Given the description of an element on the screen output the (x, y) to click on. 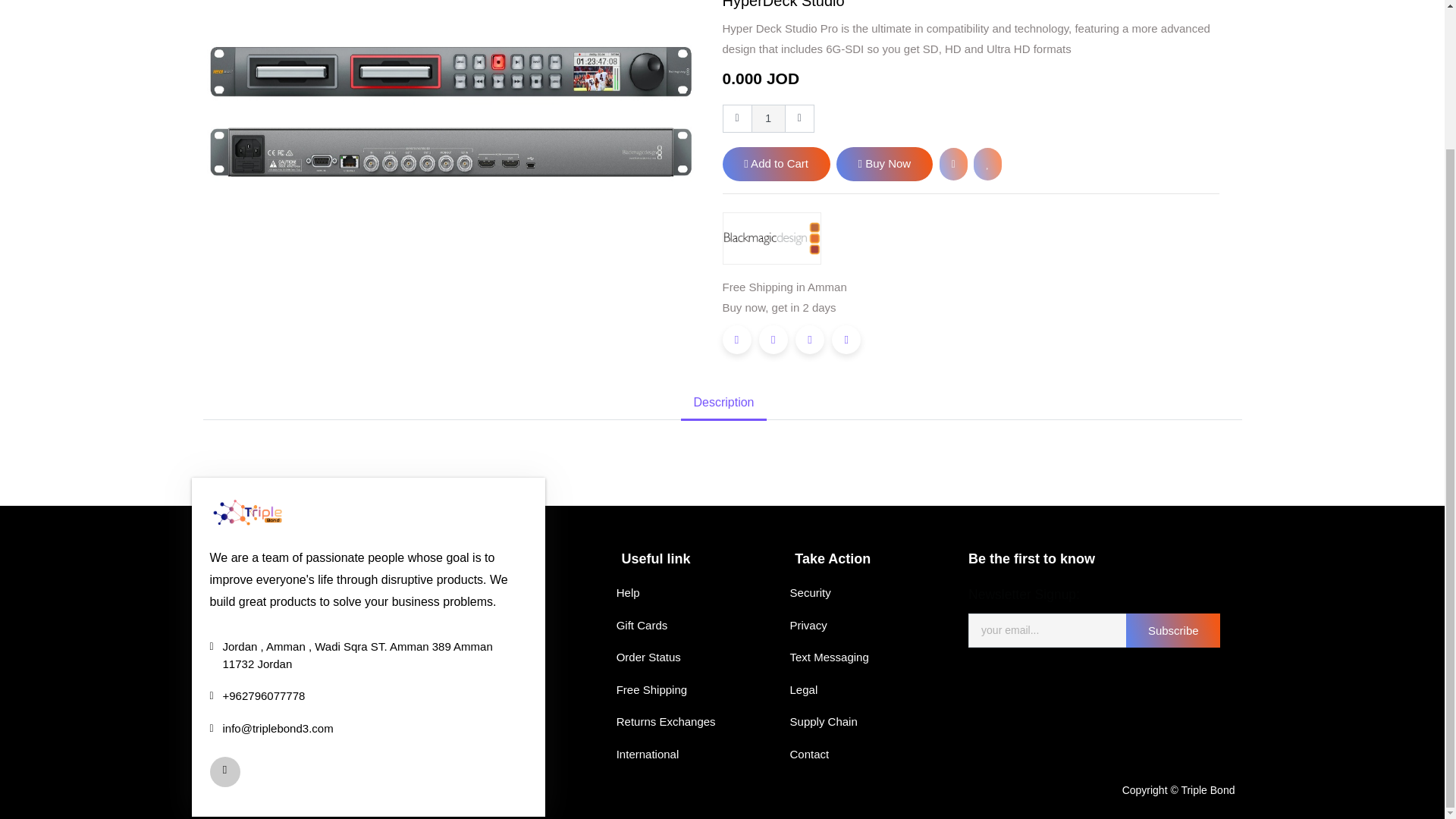
Triple Bond (247, 511)
1 (768, 118)
Add one (798, 118)
Remove one (736, 118)
